Given the description of an element on the screen output the (x, y) to click on. 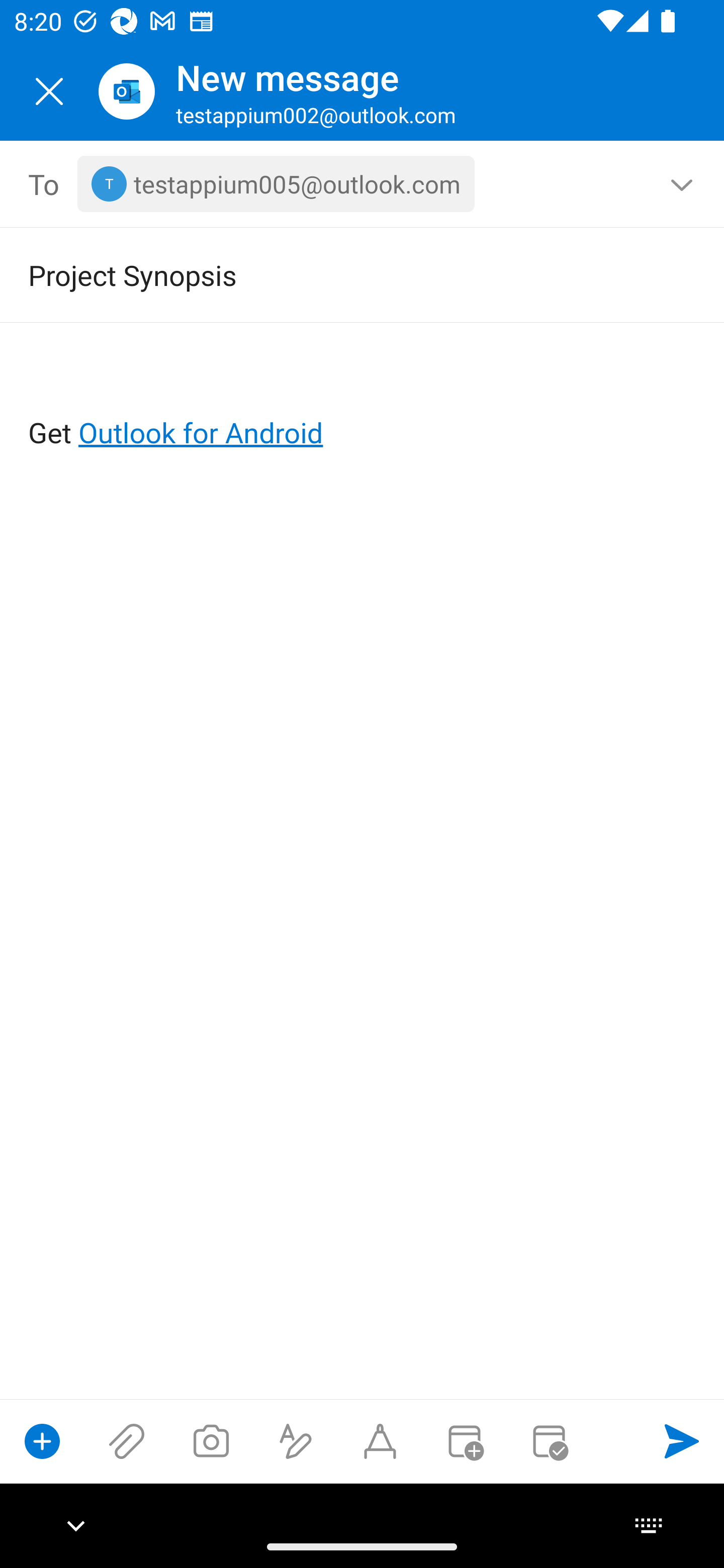
Close (49, 91)
Project Synopsis (333, 274)


Get Outlook for Android (363, 400)
Show compose options (42, 1440)
Attach files (126, 1440)
Take a photo (210, 1440)
Show formatting options (295, 1440)
Start Ink compose (380, 1440)
Convert to event (464, 1440)
Send availability (548, 1440)
Send (681, 1440)
